Given the description of an element on the screen output the (x, y) to click on. 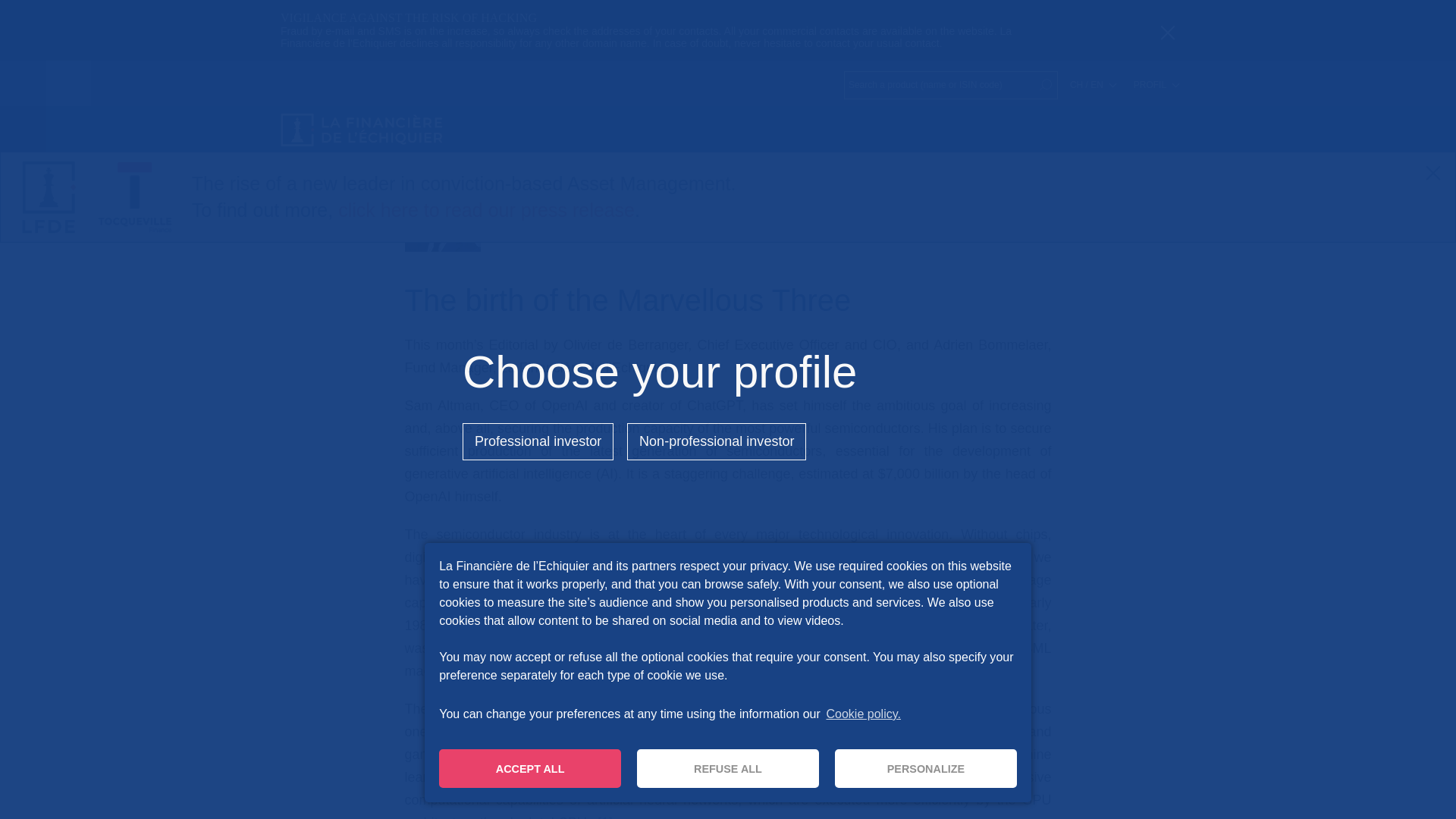
PROFIL (1155, 84)
OK (1045, 84)
ACCEPT ALL (530, 768)
OK (1045, 84)
Cookie policy. (862, 713)
REFUSE ALL (727, 768)
PERSONALIZE (925, 768)
